Given the description of an element on the screen output the (x, y) to click on. 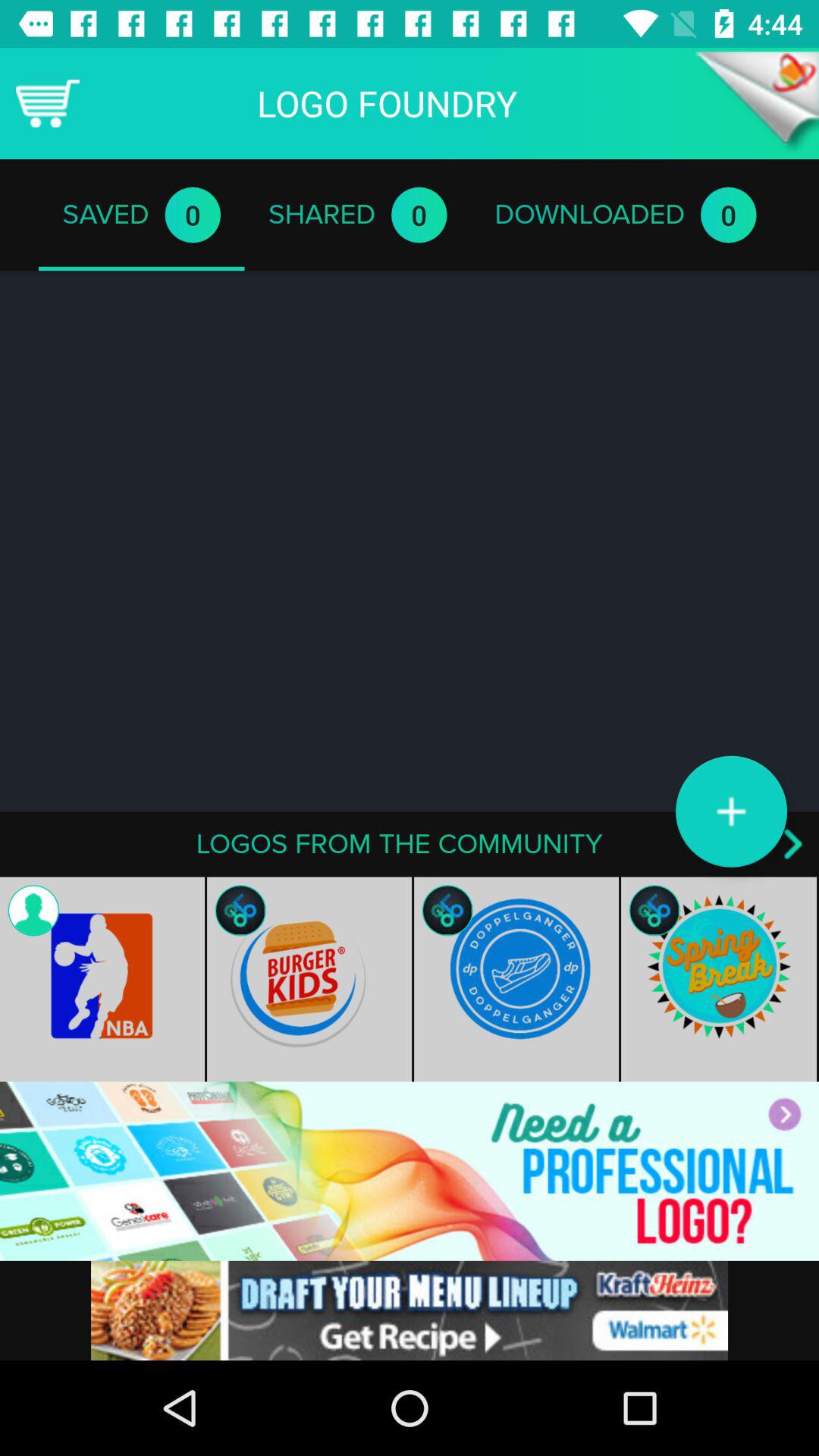
open cart (47, 103)
